Given the description of an element on the screen output the (x, y) to click on. 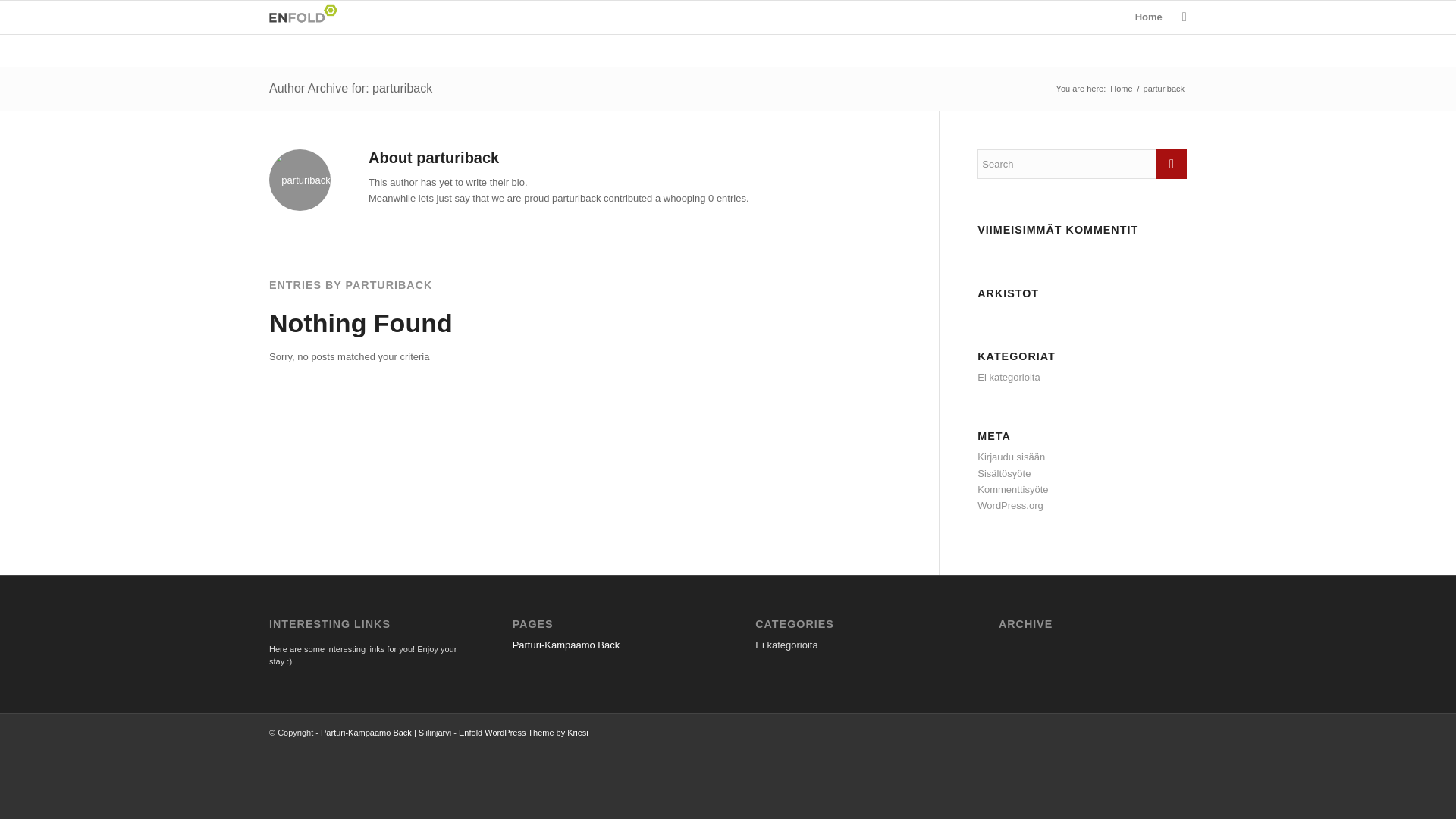
WordPress.org (1009, 505)
Home (1121, 89)
Enfold WordPress Theme by Kriesi (523, 732)
Parturi-Kampaamo Back (566, 644)
Home (1148, 17)
